Given the description of an element on the screen output the (x, y) to click on. 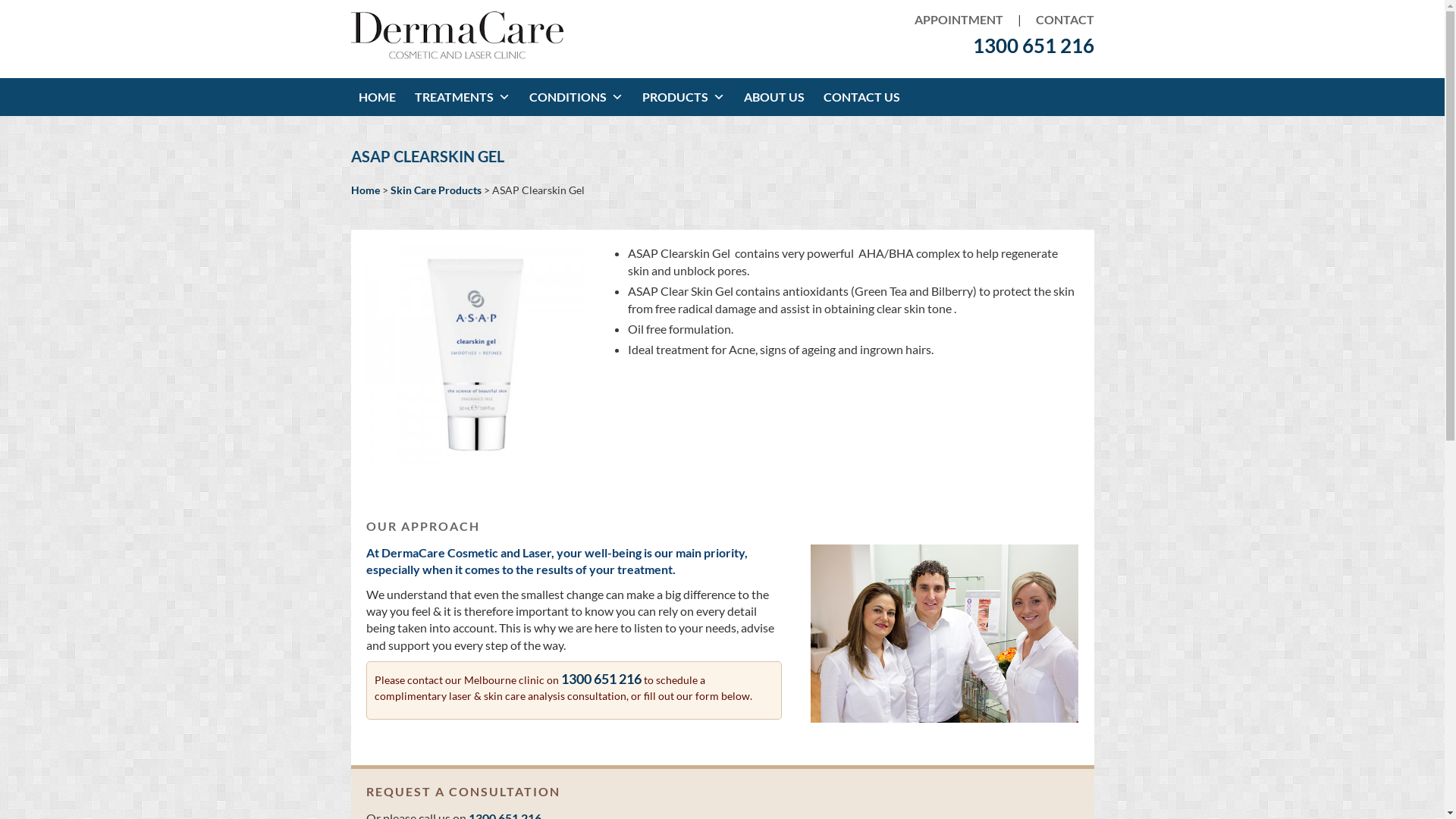
HOME Element type: text (378, 97)
DermaCare Cosmetic and Laser Clinic, Melbourne Element type: hover (456, 57)
CONDITIONS Element type: text (577, 97)
Skin Care Products Element type: text (434, 189)
Home Element type: text (364, 189)
APPOINTMENT Element type: text (958, 19)
PRODUCTS Element type: text (684, 97)
1300 651 216 Element type: text (601, 678)
CONTACT US Element type: text (863, 97)
CONTACT Element type: text (1058, 19)
TREATMENTS Element type: text (463, 97)
ABOUT US Element type: text (775, 97)
1300 651 216 Element type: text (1032, 45)
